Given the description of an element on the screen output the (x, y) to click on. 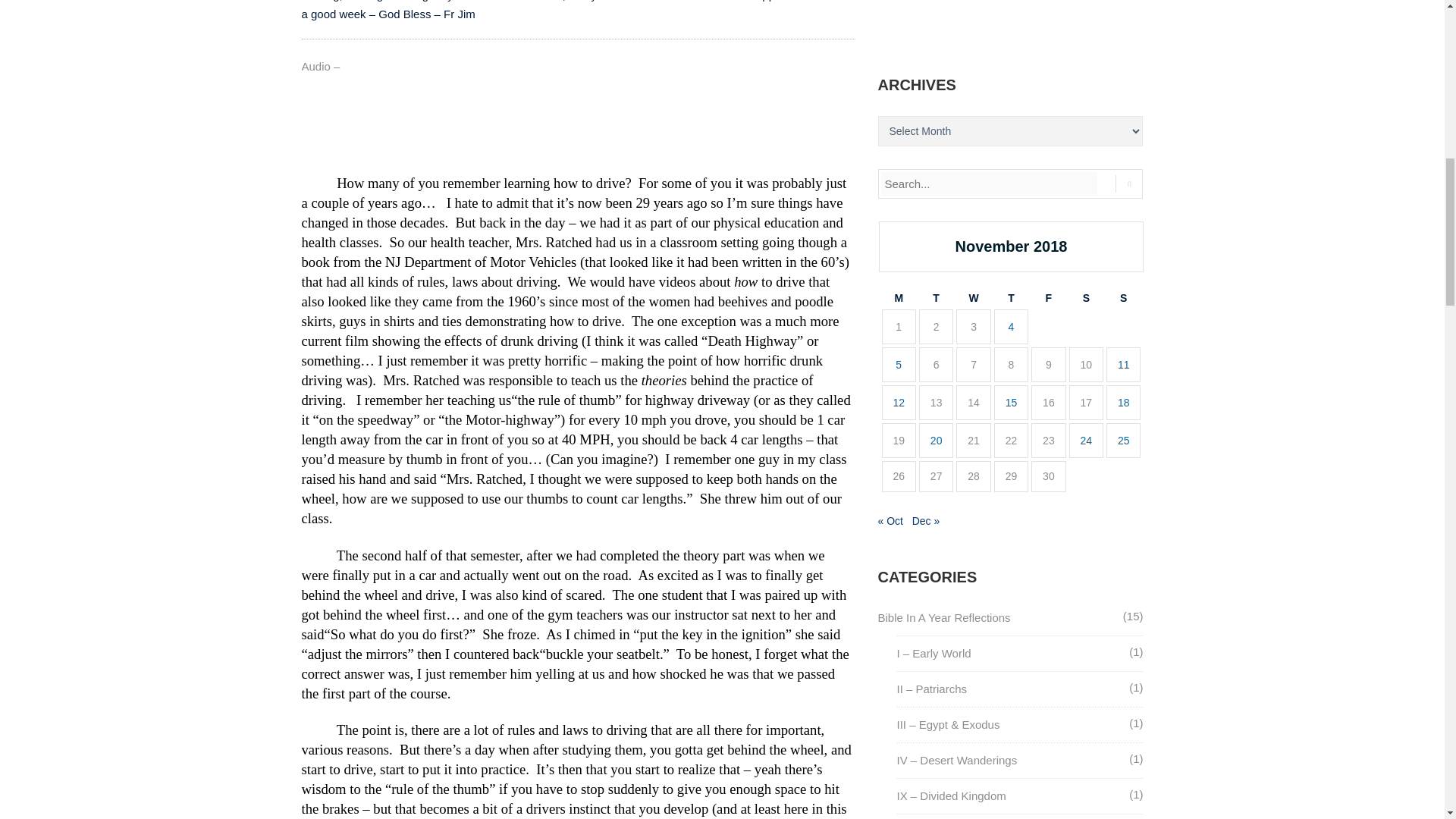
Wednesday (973, 298)
Sunday (1123, 298)
Tuesday (935, 298)
Monday (897, 298)
Thursday (1010, 298)
Friday (1047, 298)
Saturday (1085, 298)
